Given the description of an element on the screen output the (x, y) to click on. 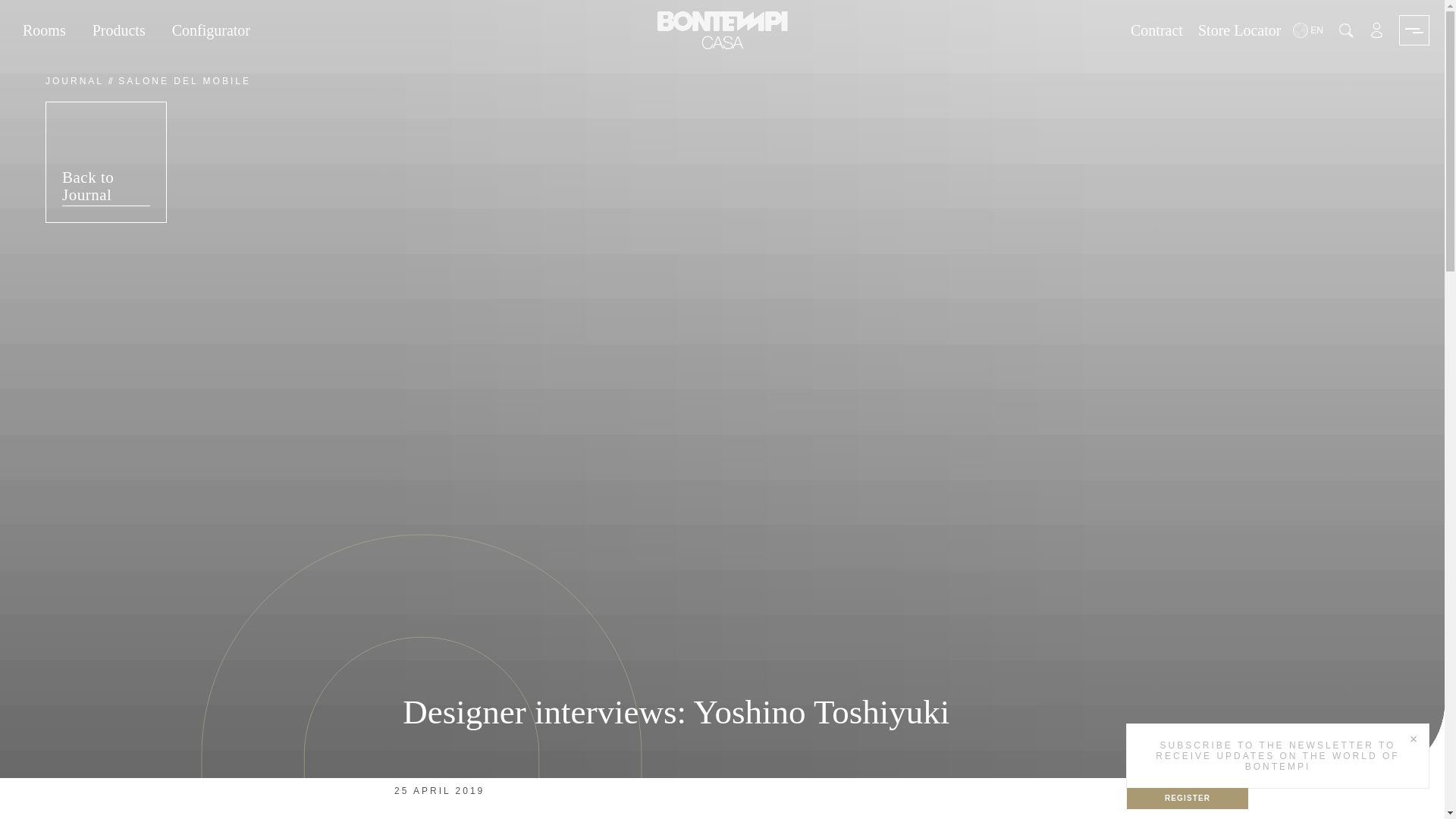
Contract (1156, 29)
Rooms (44, 29)
Configurator (210, 29)
EN (1309, 29)
Store Locator (1239, 29)
Search (1345, 30)
Products (118, 29)
Reserved Area (1376, 30)
